Given the description of an element on the screen output the (x, y) to click on. 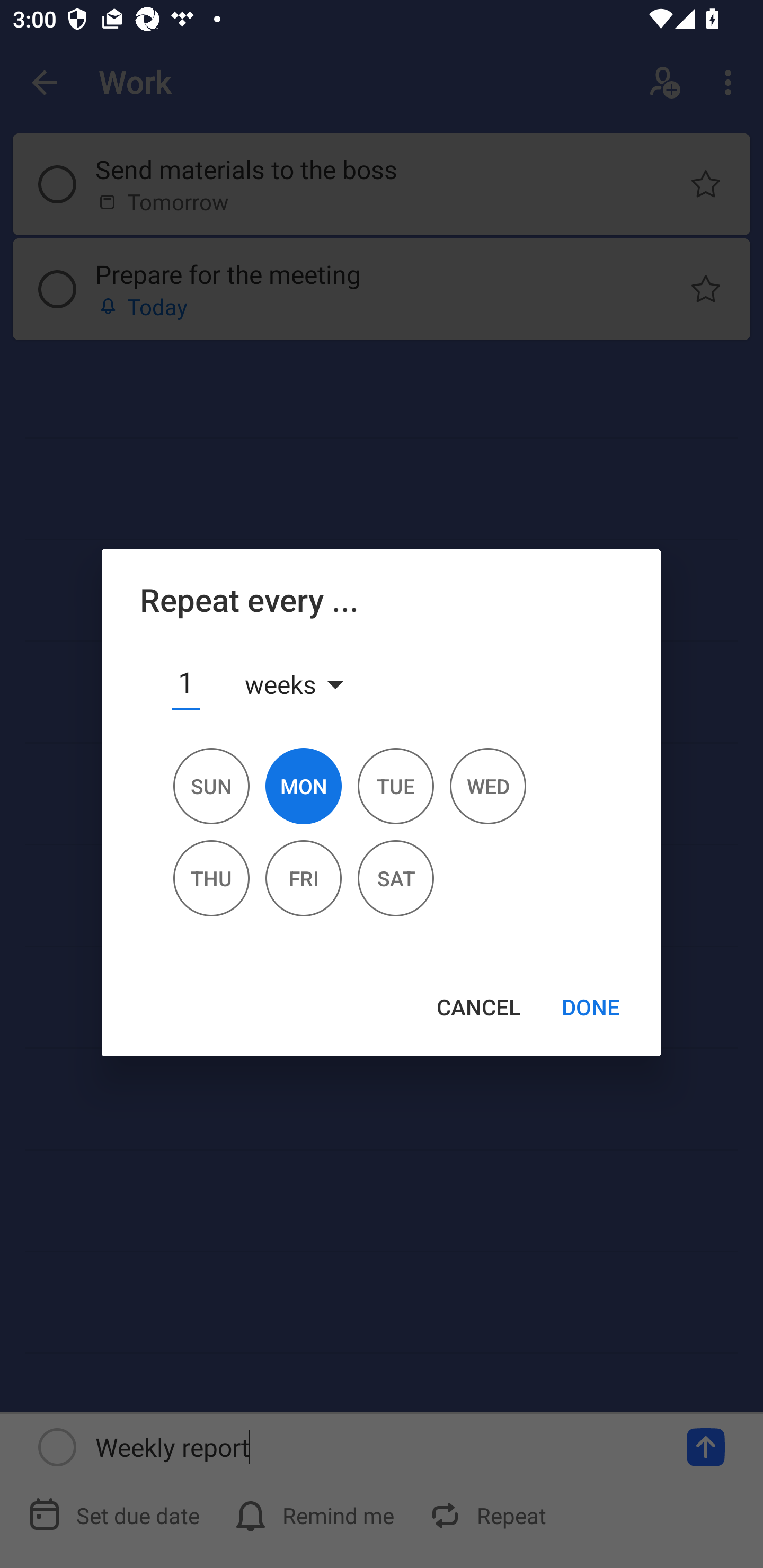
DONE (590, 1007)
